Given the description of an element on the screen output the (x, y) to click on. 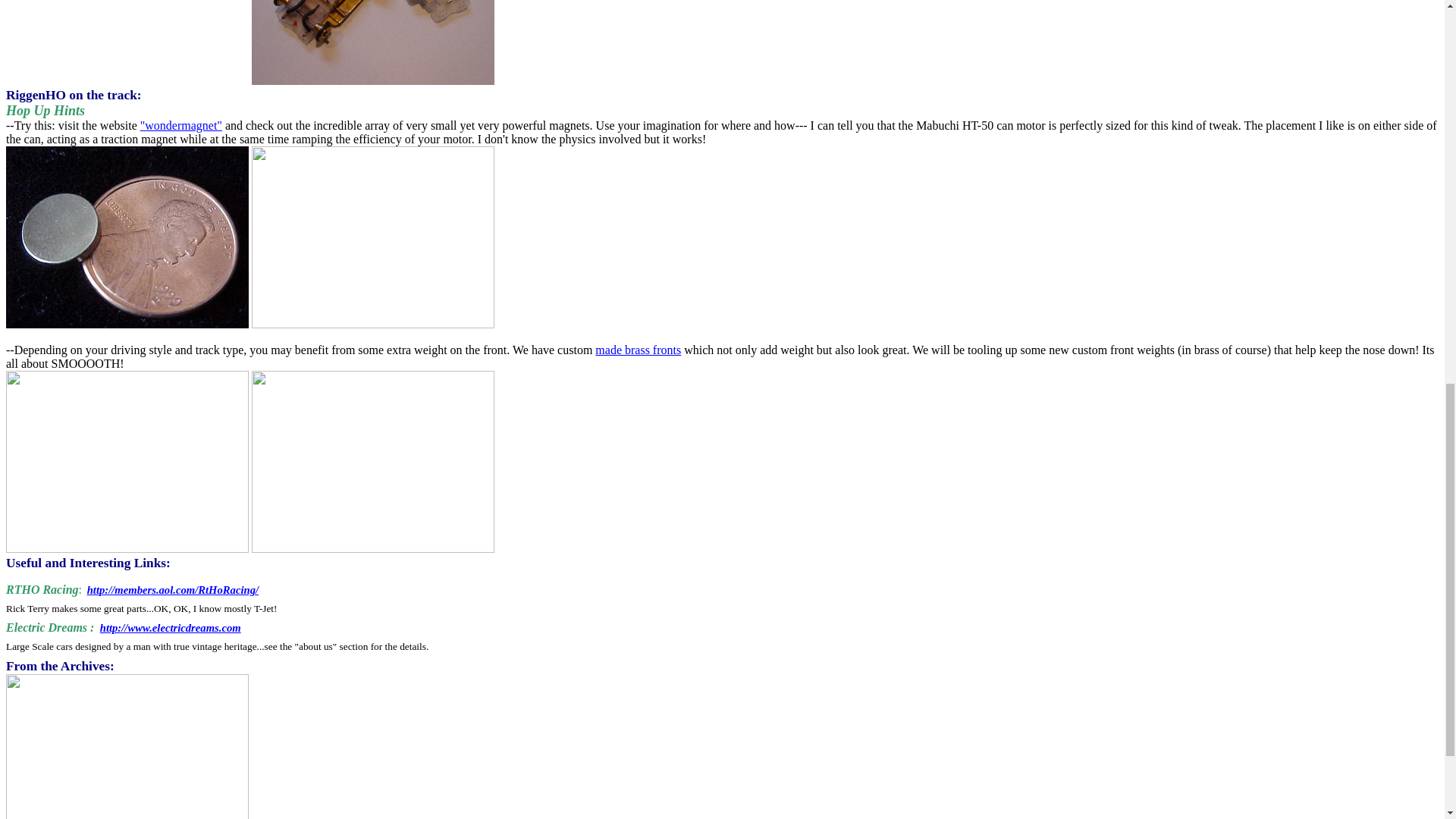
made brass fronts (638, 349)
"wondermagnet" (180, 124)
